Given the description of an element on the screen output the (x, y) to click on. 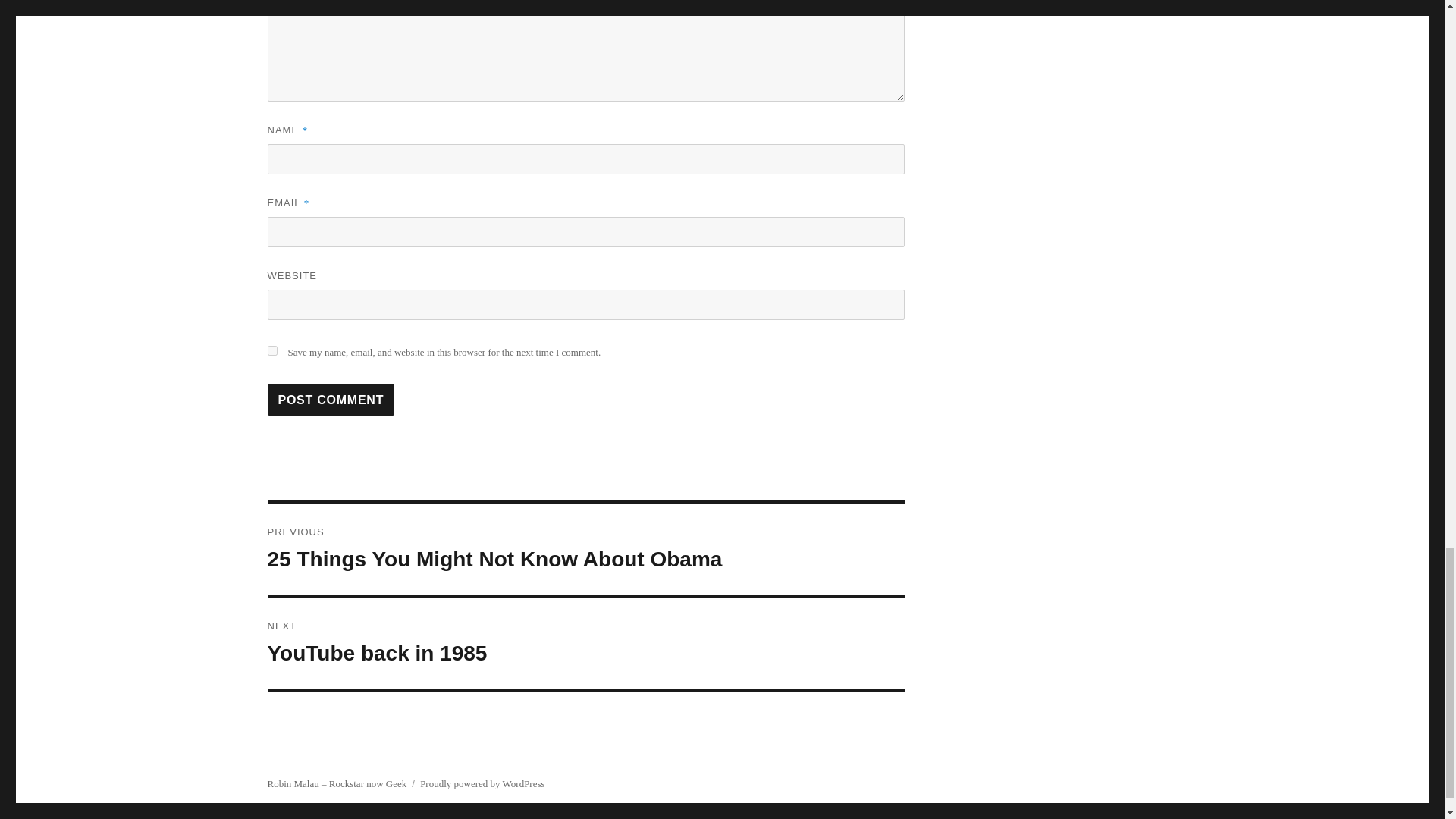
Post Comment (330, 399)
Post Comment (330, 399)
yes (271, 350)
